Given the description of an element on the screen output the (x, y) to click on. 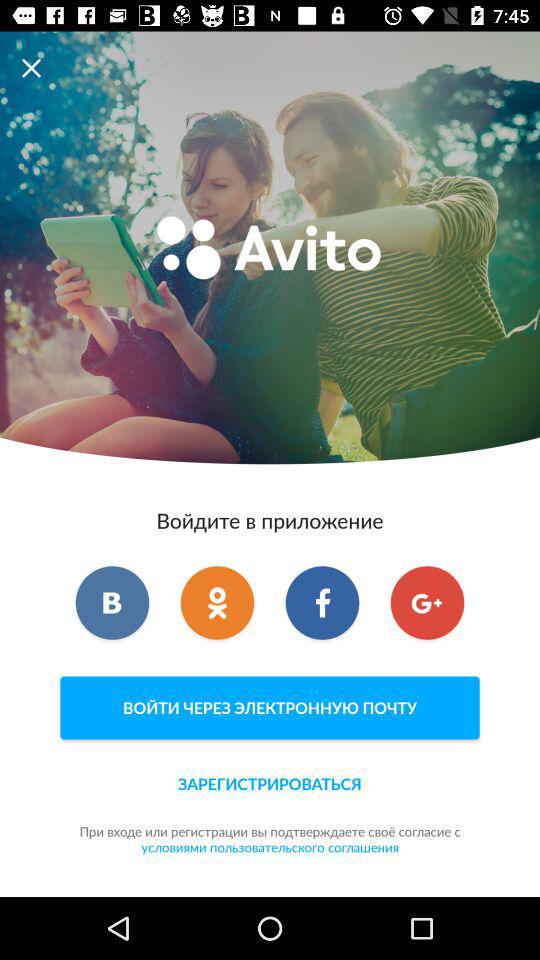
choose icon on the left (112, 603)
